Given the description of an element on the screen output the (x, y) to click on. 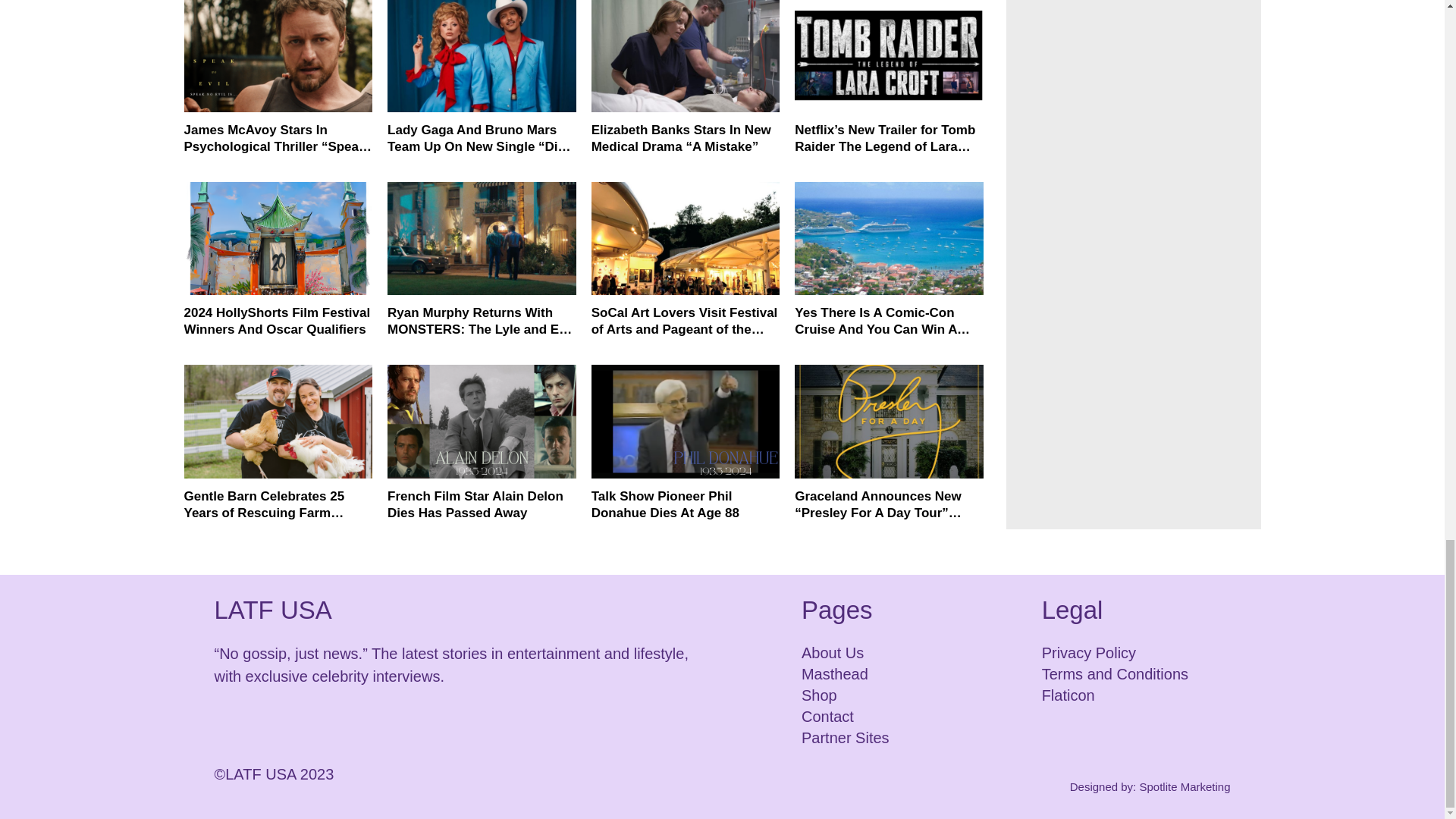
HollyShorts Film Festival winners 2024 (277, 237)
alain delon (481, 420)
comic-con cruise contest (889, 237)
the gentle barn (277, 420)
Festival of Arts and Pageant of the Masters (685, 237)
Untitled design (889, 56)
phil donahue (685, 420)
The Lyle and Erik Menendez Story (481, 237)
Unknown (277, 56)
